Given the description of an element on the screen output the (x, y) to click on. 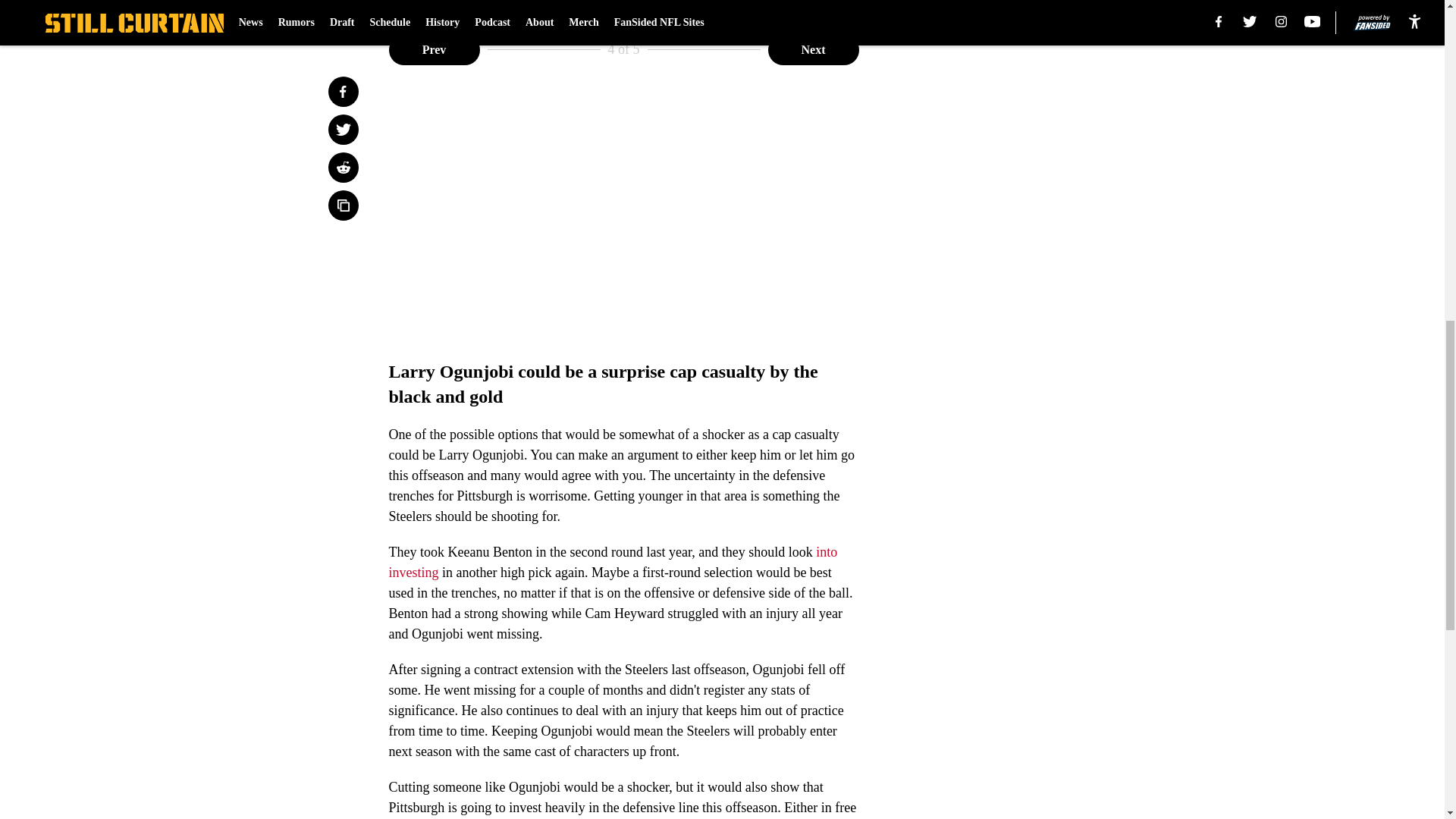
into investing (612, 561)
Prev (433, 50)
Next (813, 50)
